Given the description of an element on the screen output the (x, y) to click on. 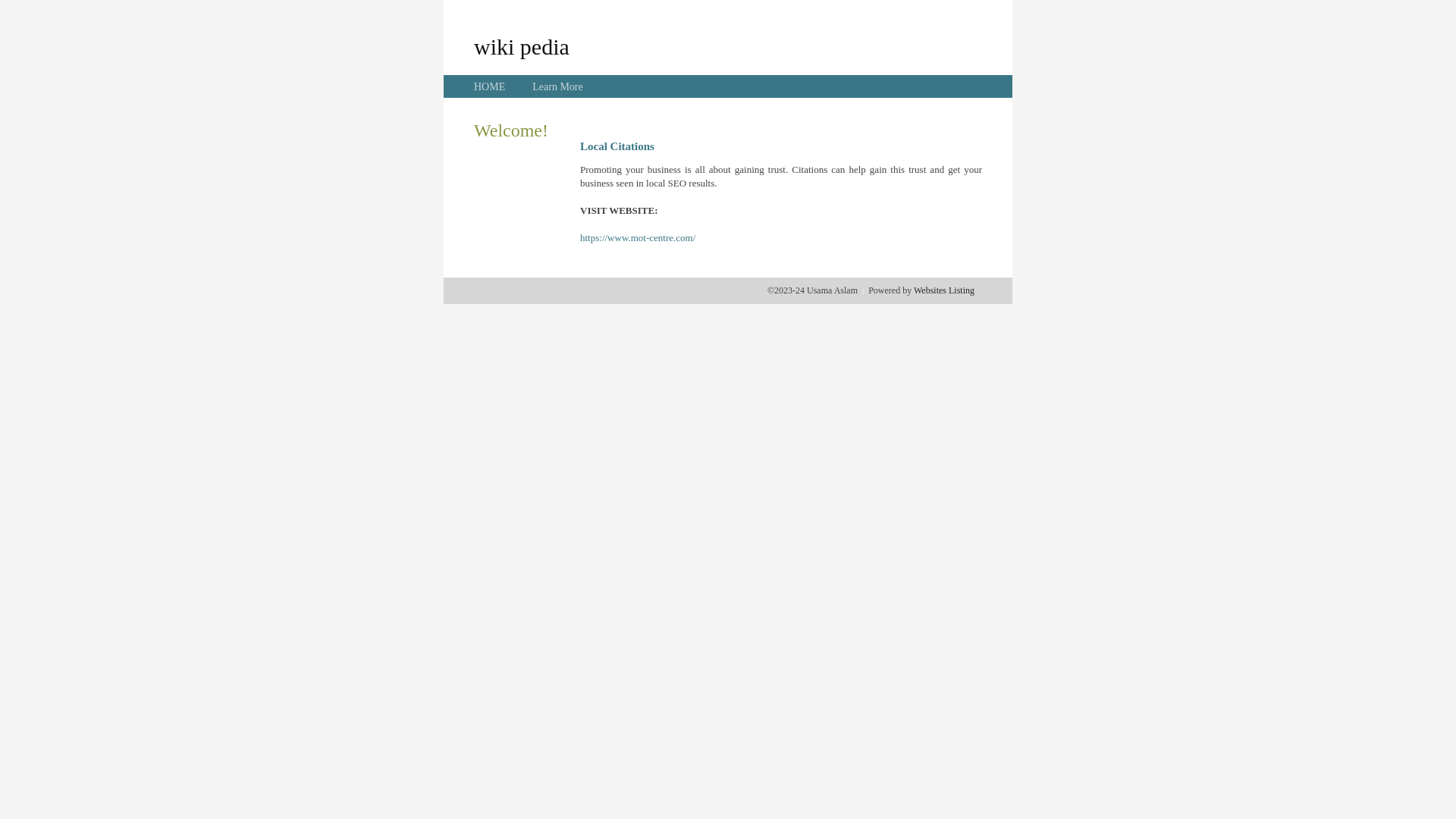
wiki pedia Element type: text (521, 46)
Websites Listing Element type: text (943, 290)
https://www.mot-centre.com/ Element type: text (637, 237)
Learn More Element type: text (557, 86)
HOME Element type: text (489, 86)
